Given the description of an element on the screen output the (x, y) to click on. 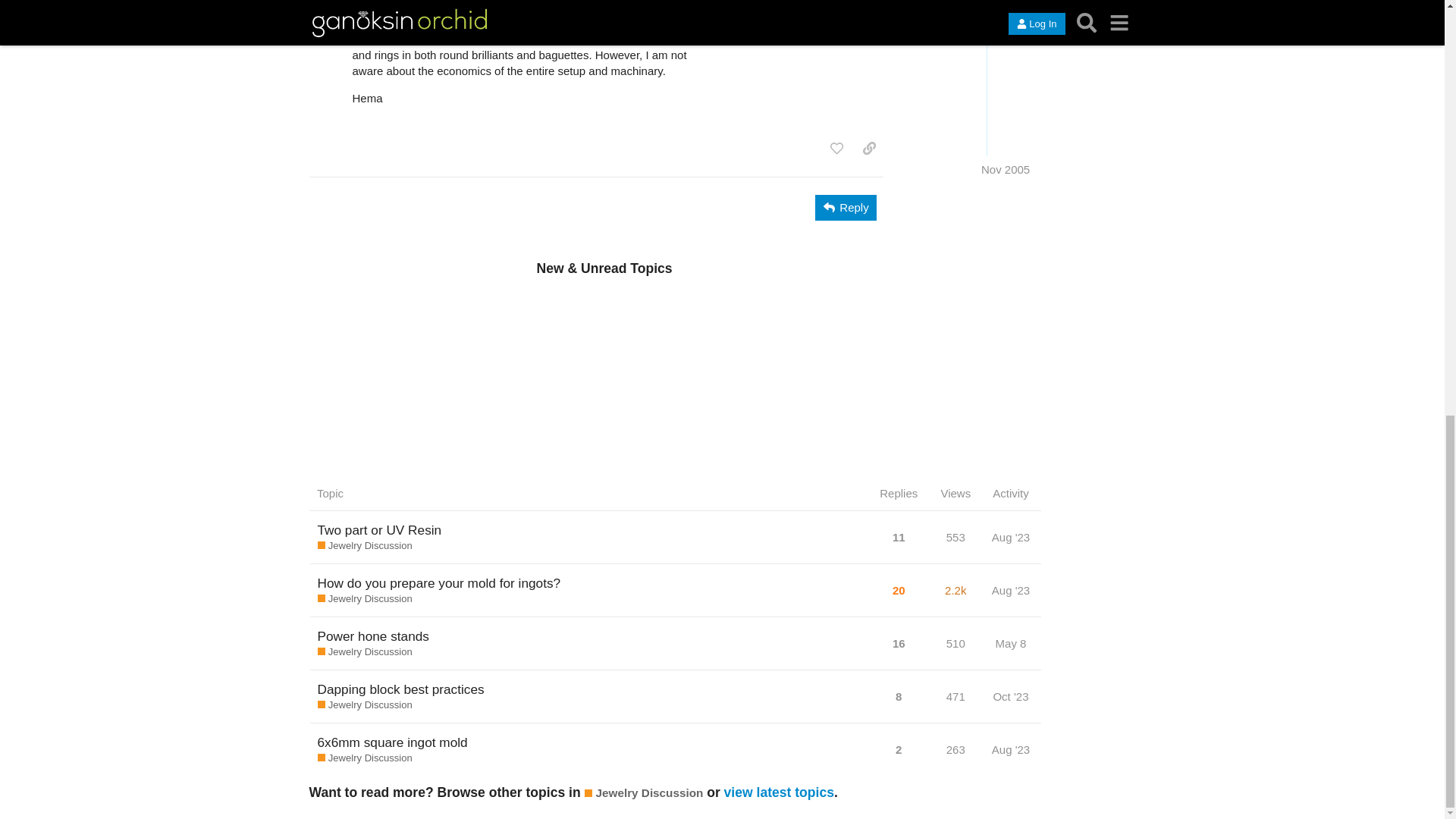
How do you prepare your mold for ingots? (438, 582)
Aug '23 (1010, 537)
Reply (846, 207)
Two part or UV Resin (379, 529)
Jewelry Discussion (364, 545)
